Given the description of an element on the screen output the (x, y) to click on. 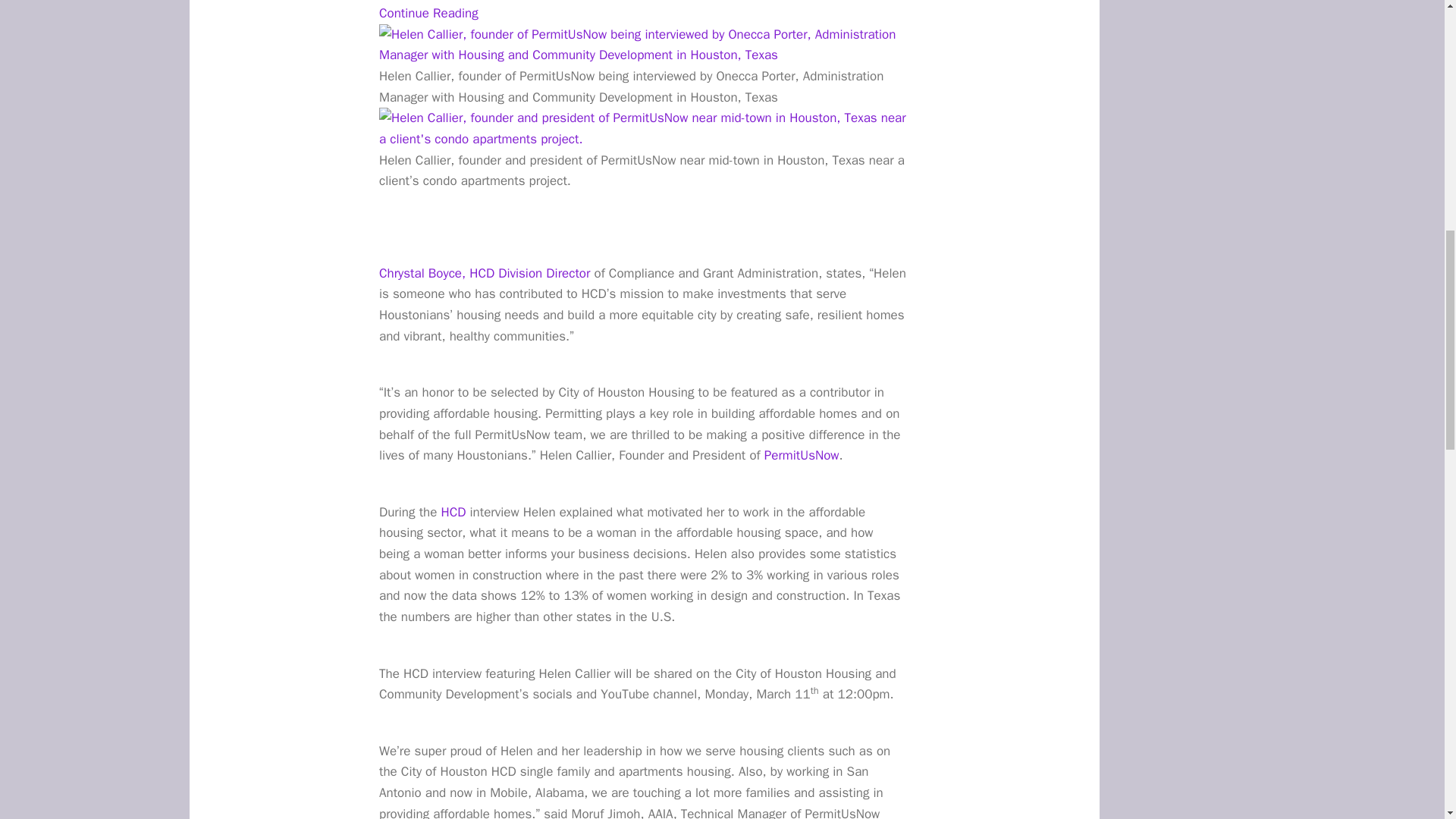
Chrystal Boyce, HCD Division Director (483, 273)
Continue Reading (428, 12)
HCD (450, 512)
PermitUsNow (802, 455)
Continue Reading (428, 12)
